Given the description of an element on the screen output the (x, y) to click on. 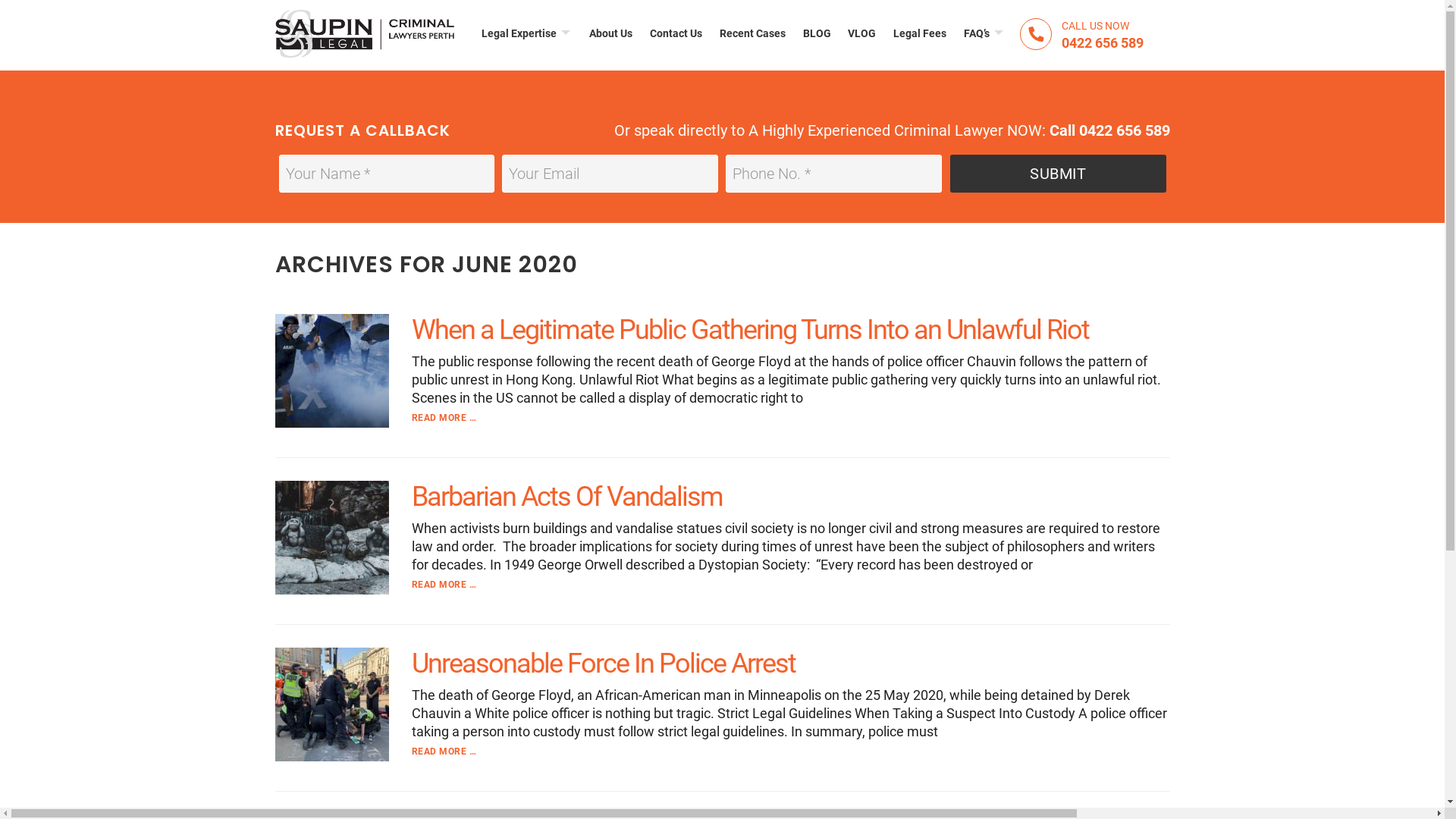
CRIMINAL DEFENCE LAWYERS IN PERTH Element type: text (363, 34)
0422 656 589 Element type: text (1111, 43)
Contact Us Element type: text (676, 33)
Unreasonable Force In Police Arrest Element type: text (602, 663)
BLOG Element type: text (816, 33)
Call 0422 656 589 Element type: text (1109, 130)
VLOG Element type: text (861, 33)
Barbarian Acts Of Vandalism Element type: text (566, 496)
About Us Element type: text (611, 33)
Legal Fees Element type: text (919, 33)
Recent Cases Element type: text (752, 33)
Skip to main content Element type: text (0, 0)
Legal Expertise Element type: text (526, 33)
Submit Element type: text (1057, 173)
